Given the description of an element on the screen output the (x, y) to click on. 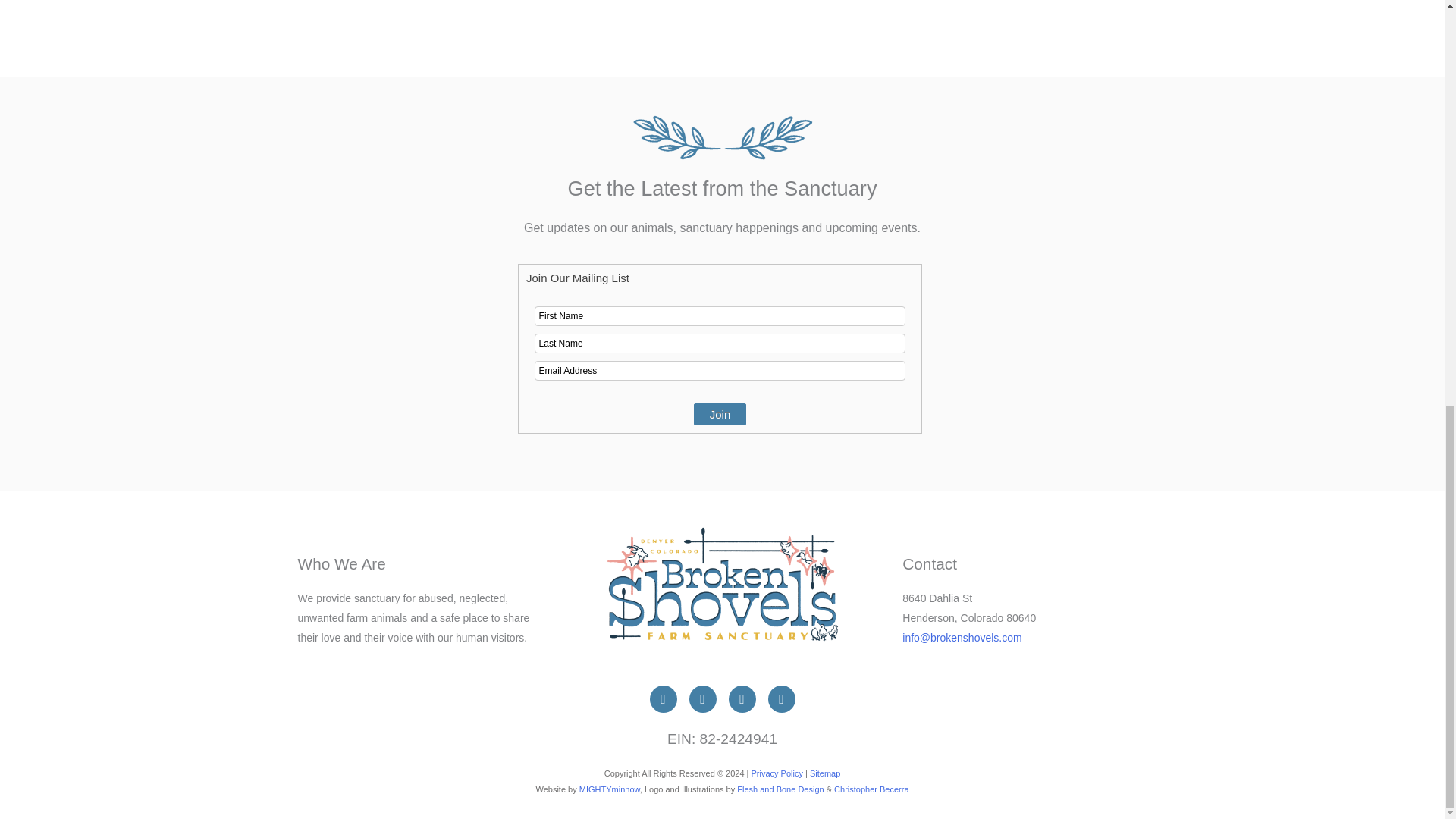
Facebook (663, 698)
Twitter (780, 698)
MIGHTYminnow (609, 788)
Sitemap (824, 773)
Flesh and Bone Design (780, 788)
Link (741, 698)
Privacy Policy (776, 773)
Christopher Becerra (871, 788)
Instagram (702, 698)
